Given the description of an element on the screen output the (x, y) to click on. 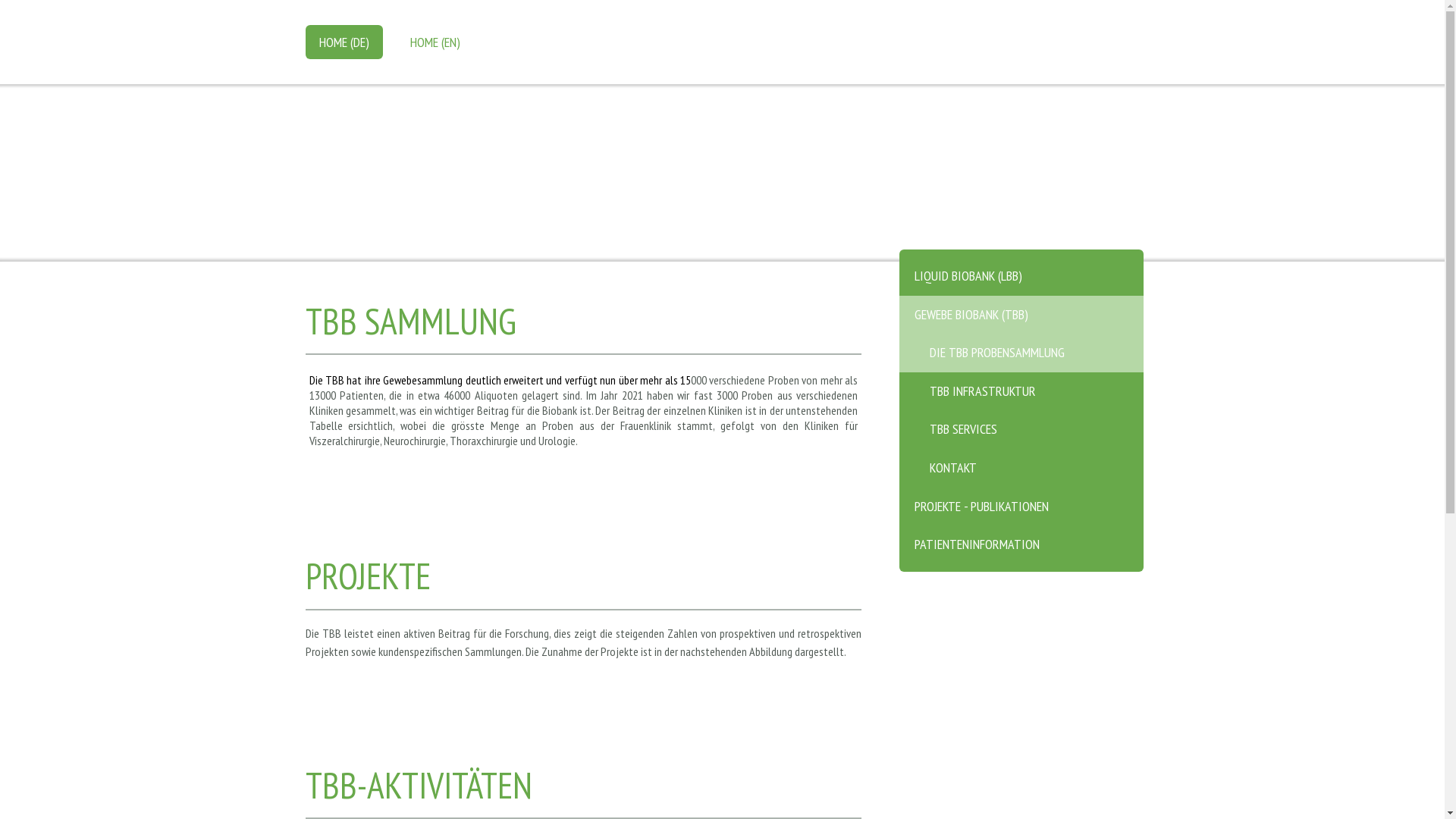
PROJEKTE - PUBLIKATIONEN Element type: text (1021, 506)
TBB INFRASTRUKTUR Element type: text (1021, 391)
HOME (DE) Element type: text (343, 42)
DIE TBB PROBENSAMMLUNG Element type: text (1021, 352)
GEWEBE BIOBANK (TBB) Element type: text (1021, 314)
HOME (EN) Element type: text (434, 42)
KONTAKT Element type: text (1021, 467)
PATIENTENINFORMATION Element type: text (1021, 548)
LIQUID BIOBANK (LBB) Element type: text (1021, 272)
TBB SERVICES Element type: text (1021, 429)
